Given the description of an element on the screen output the (x, y) to click on. 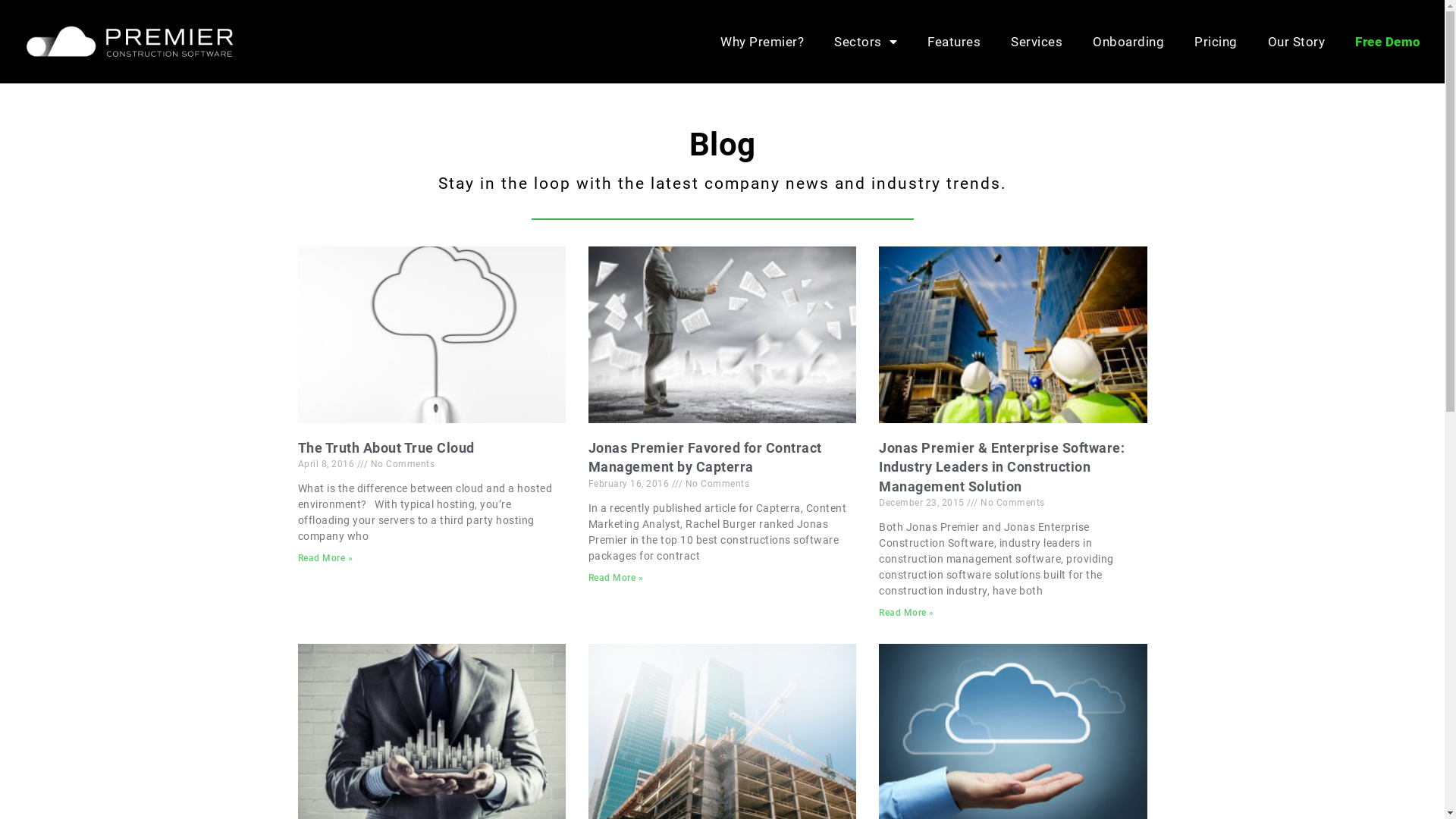
Services Element type: text (1036, 41)
Jonas Premier Favored for Contract Management by Capterra Element type: text (705, 456)
Why Premier? Element type: text (762, 41)
Onboarding Element type: text (1128, 41)
Our Story Element type: text (1296, 41)
The Truth About True Cloud Element type: text (385, 447)
Free Demo Element type: text (1387, 41)
Sectors Element type: text (865, 41)
Features Element type: text (953, 41)
Pricing Element type: text (1215, 41)
